Given the description of an element on the screen output the (x, y) to click on. 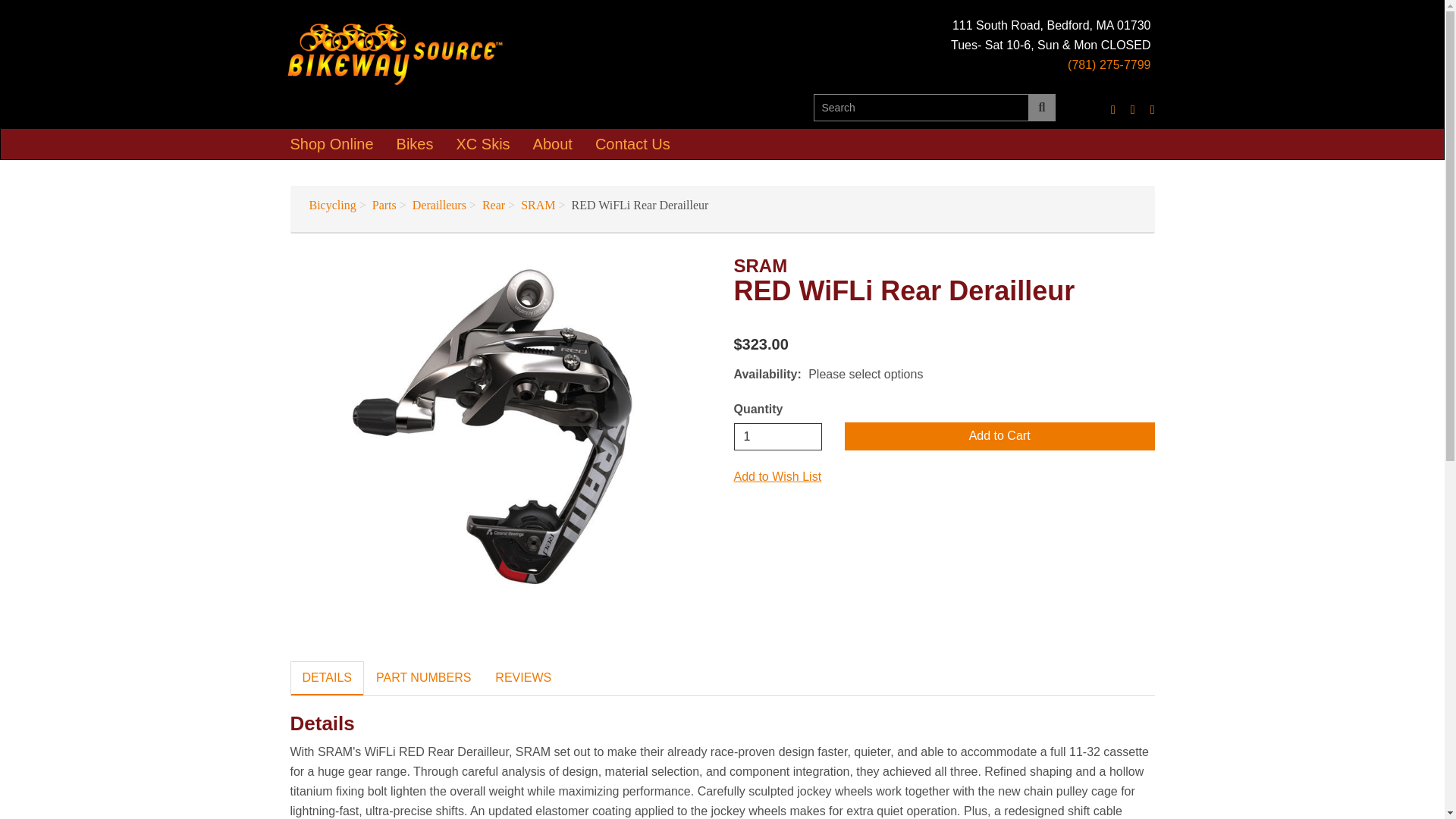
Search (920, 107)
SRAM RED WiFLi Rear Derailleur (500, 426)
Shop Online (332, 143)
Search (1041, 107)
1 (777, 436)
